Given the description of an element on the screen output the (x, y) to click on. 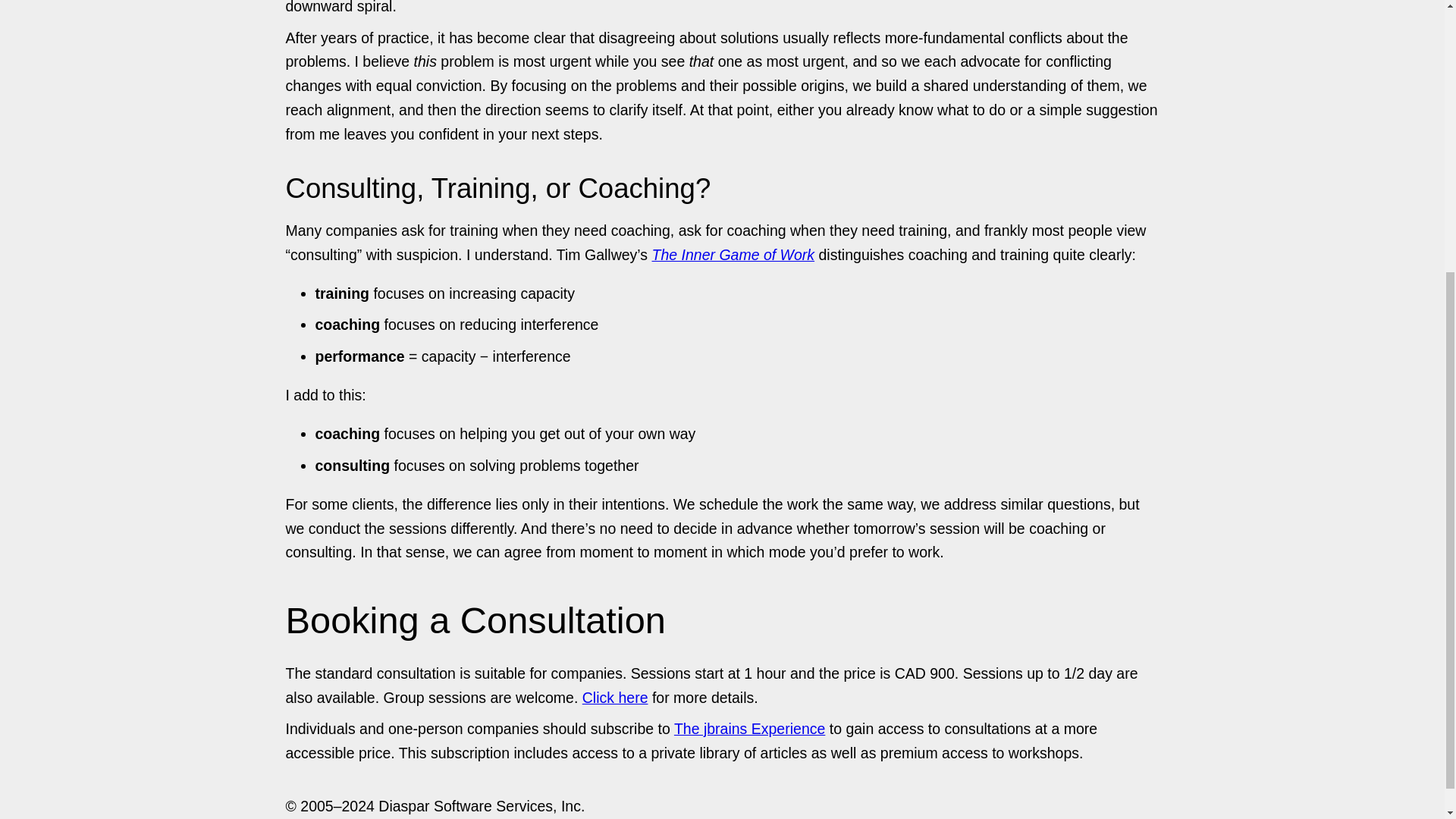
The jbrains Experience (749, 728)
Click here (614, 697)
The Inner Game of Work (733, 254)
